Given the description of an element on the screen output the (x, y) to click on. 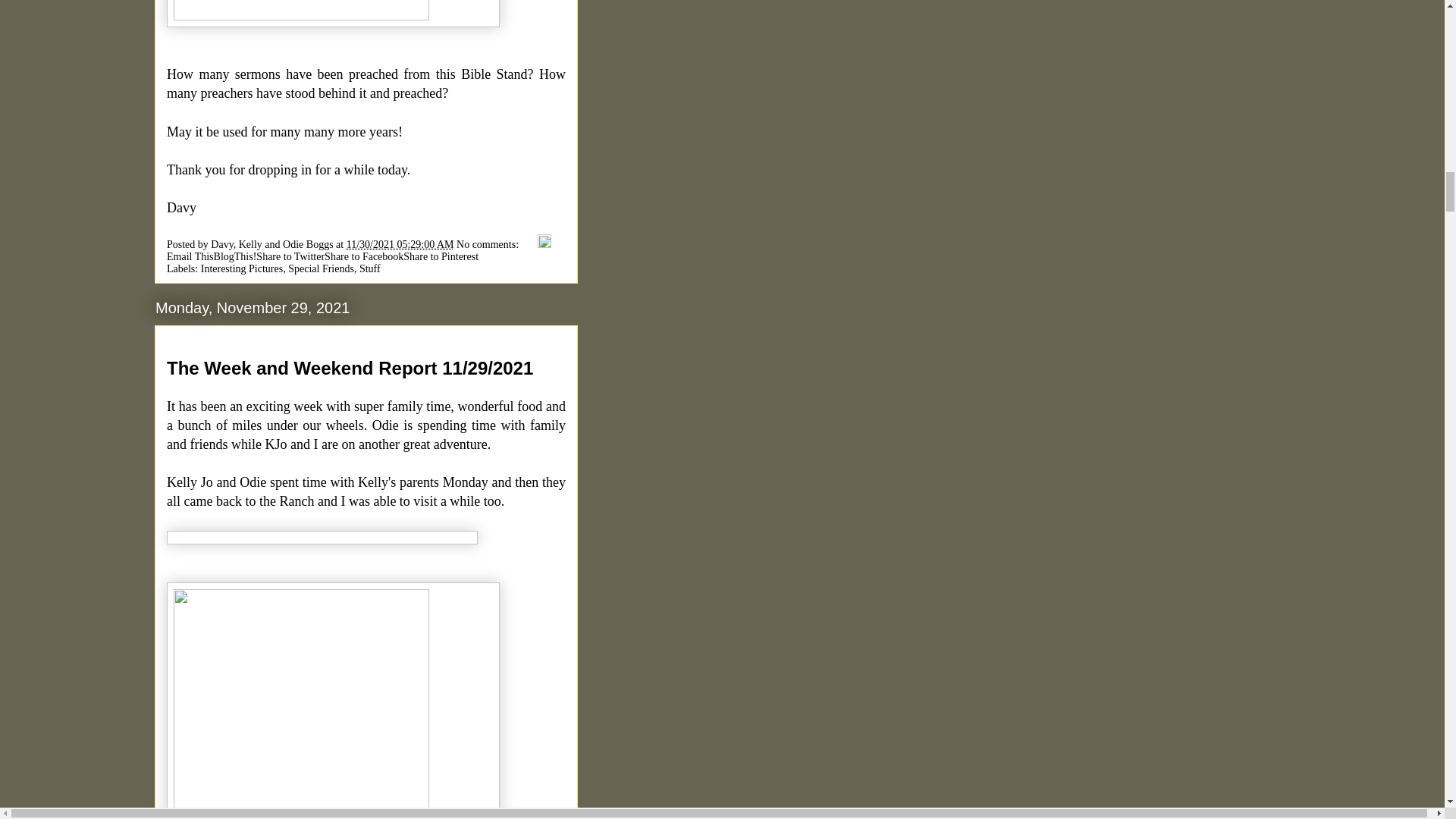
No comments: (489, 243)
Email This (190, 255)
Email This (190, 255)
Davy, Kelly and Odie Boggs (273, 243)
Interesting Pictures (241, 267)
BlogThis! (235, 255)
author profile (273, 243)
Share to Twitter (290, 255)
Share to Twitter (290, 255)
BlogThis! (235, 255)
Special Friends (320, 267)
permanent link (400, 243)
Stuff (369, 267)
Share to Facebook (363, 255)
Share to Pinterest (441, 255)
